Given the description of an element on the screen output the (x, y) to click on. 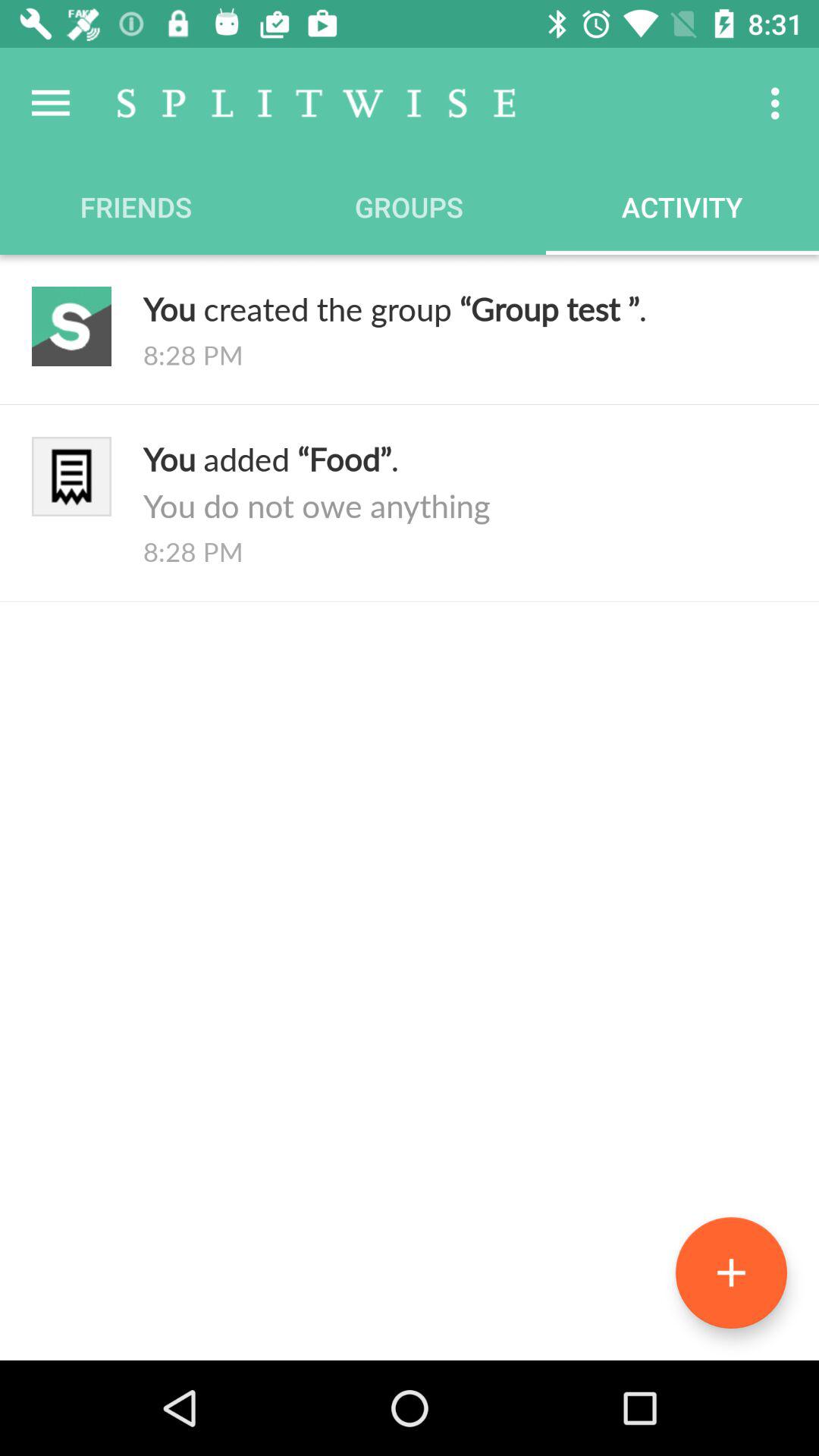
launch the item above activity (779, 103)
